Given the description of an element on the screen output the (x, y) to click on. 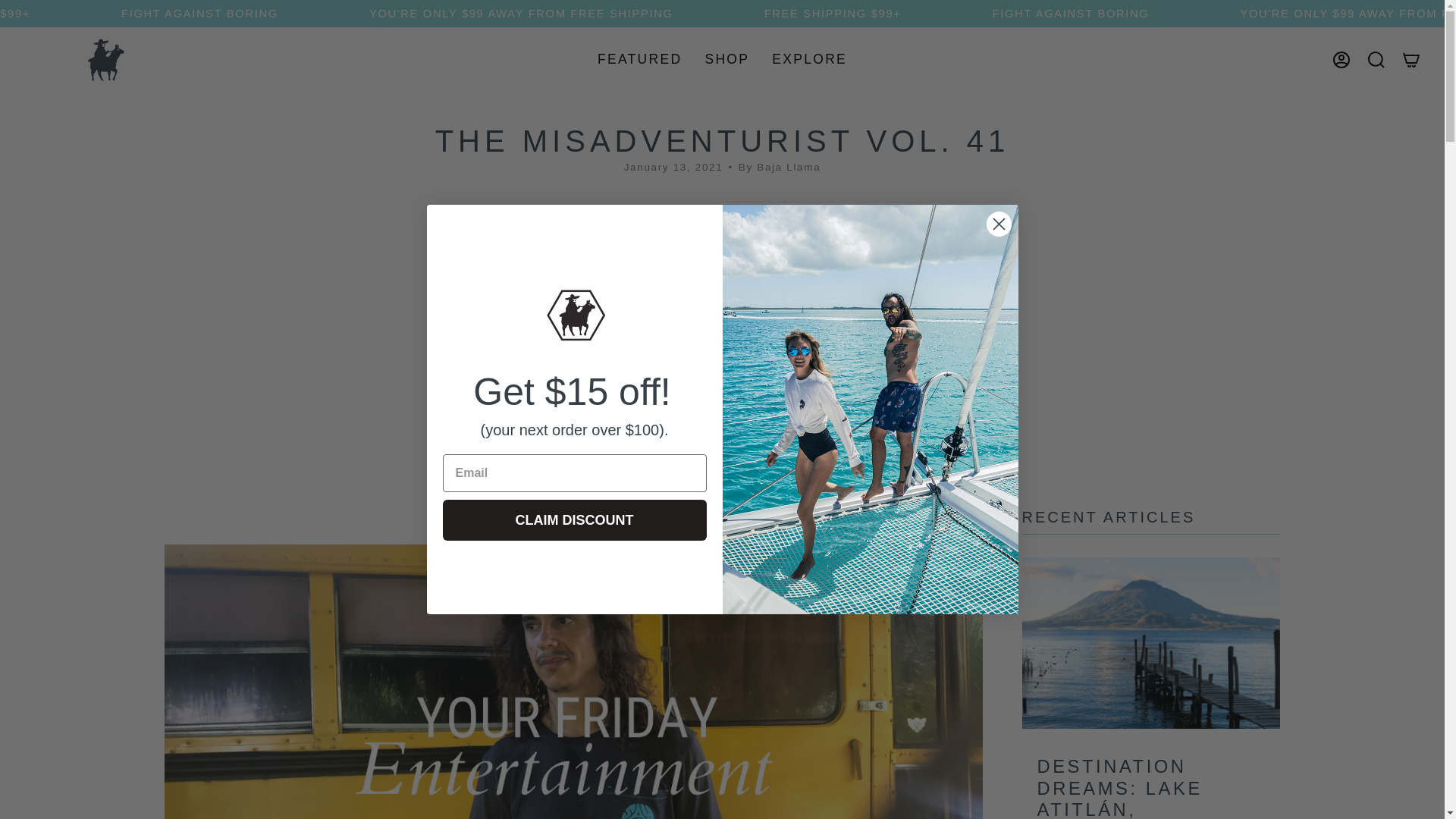
Search (1375, 59)
FEATURED (640, 59)
My Account (1340, 59)
Close dialog 2 (998, 223)
SHOP (726, 59)
Cart (1410, 59)
EXPLORE (809, 59)
